Given the description of an element on the screen output the (x, y) to click on. 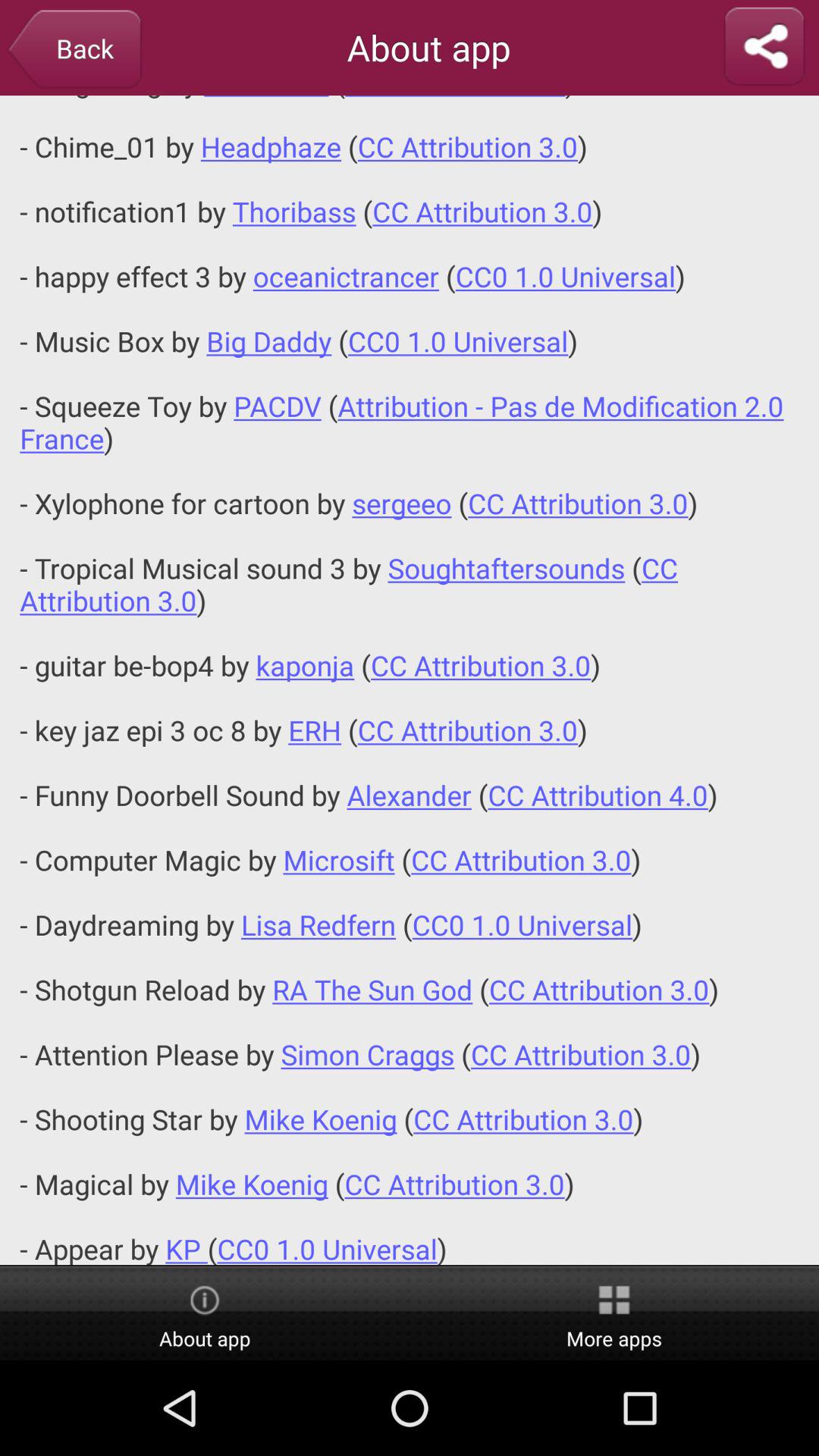
share (764, 47)
